Given the description of an element on the screen output the (x, y) to click on. 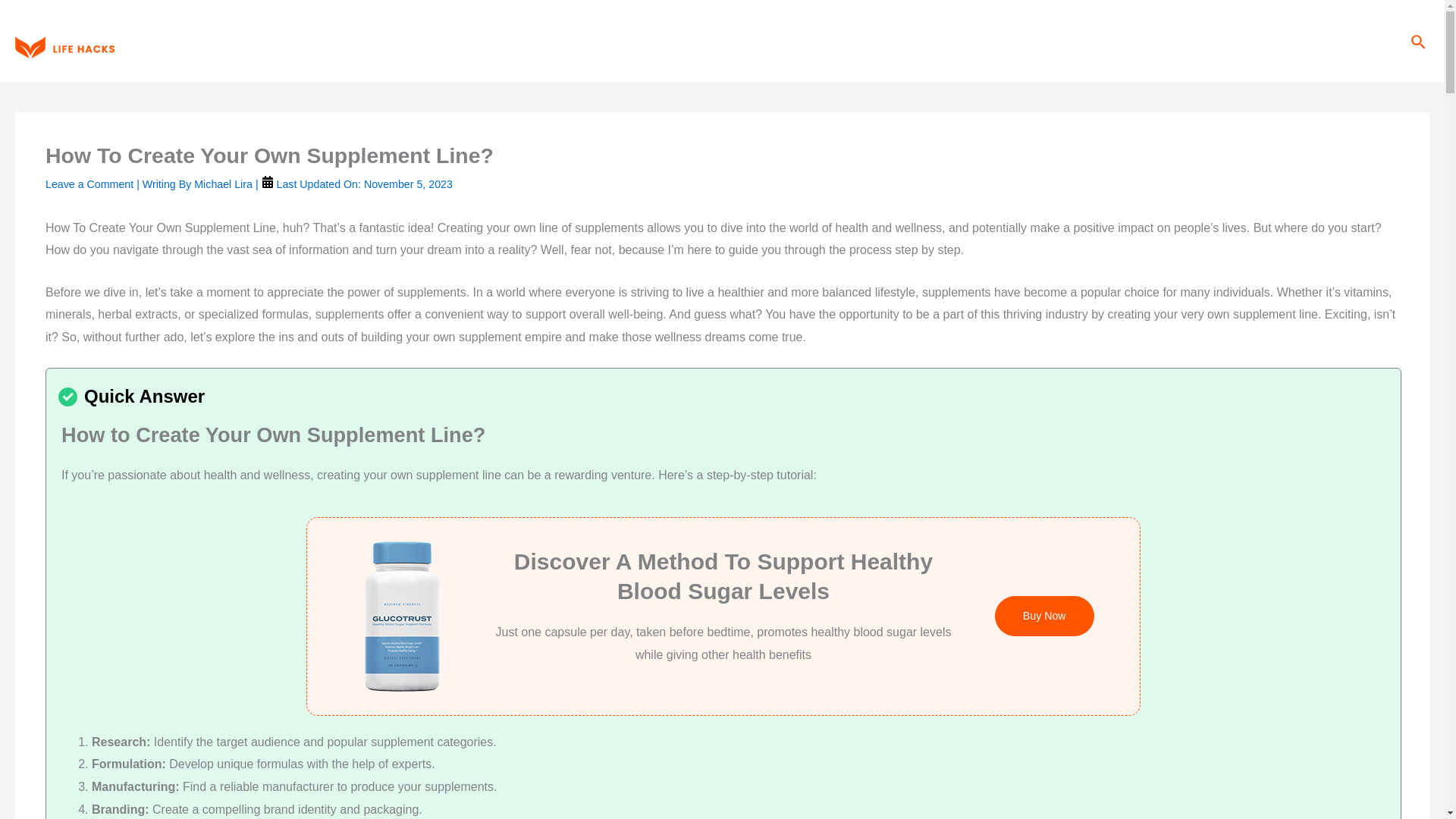
Hacking Supplements (1215, 40)
Buy Now (1044, 615)
Michael Lira (224, 184)
Hacking Sleep (1099, 40)
View all posts by Michael Lira (224, 184)
Supplements (873, 40)
Hacking Headaches (1347, 40)
Leave a Comment (89, 184)
Hacking Diet (1007, 40)
